Given the description of an element on the screen output the (x, y) to click on. 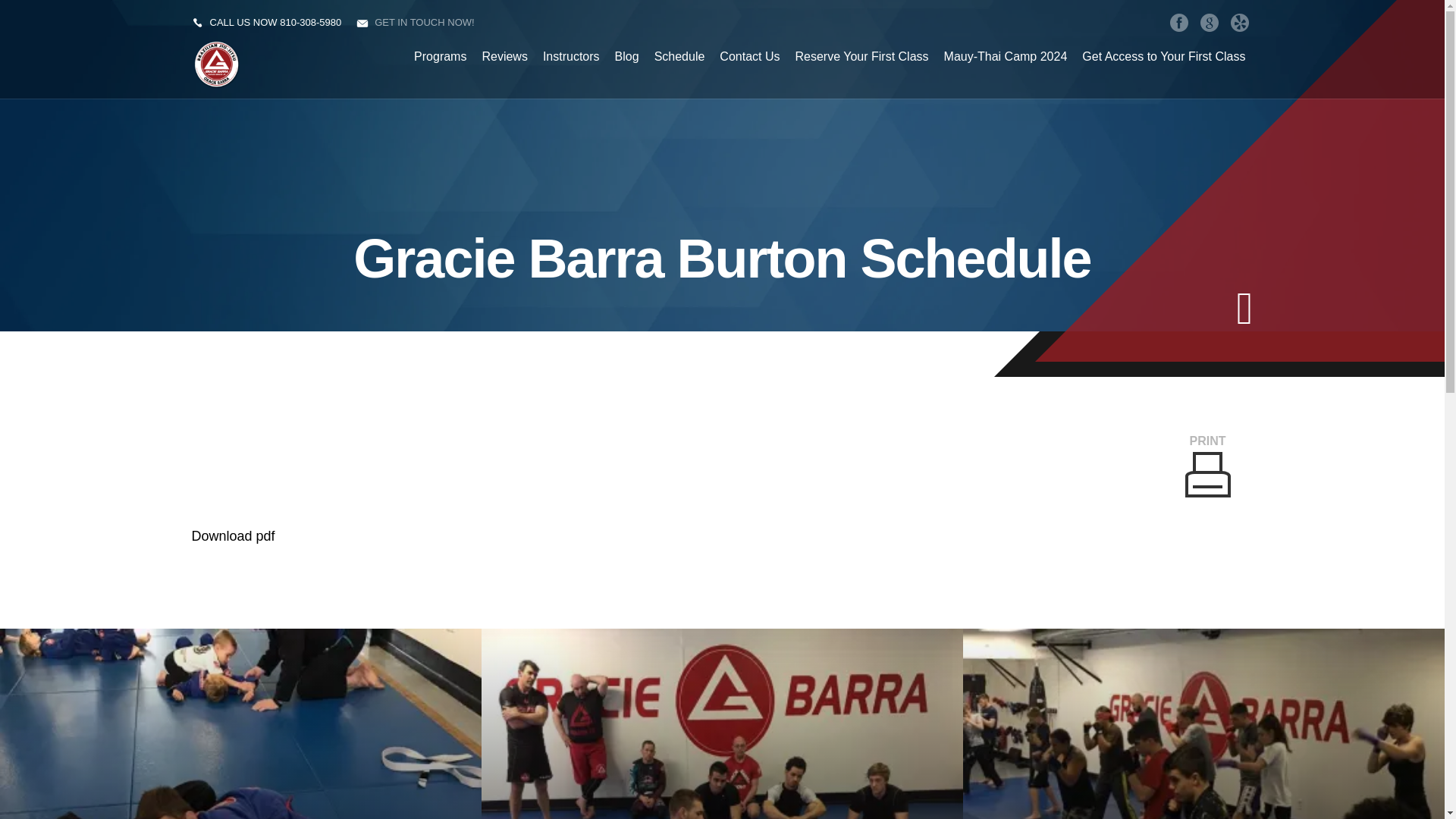
Reserve Your First Class (861, 56)
Programs (439, 56)
Instructors (571, 56)
810-308-5980 (309, 21)
PRINT (1206, 466)
GET IN TOUCH NOW! (424, 21)
Programs (439, 56)
FACEBOOK (1179, 22)
Contact Us (749, 56)
Blog (626, 56)
Mauy-Thai Camp 2024 (1005, 56)
Brazilian Jiu Jitsu (721, 723)
Reviews (504, 56)
Get Access to Your First Class (1163, 56)
Schedule (679, 56)
